Given the description of an element on the screen output the (x, y) to click on. 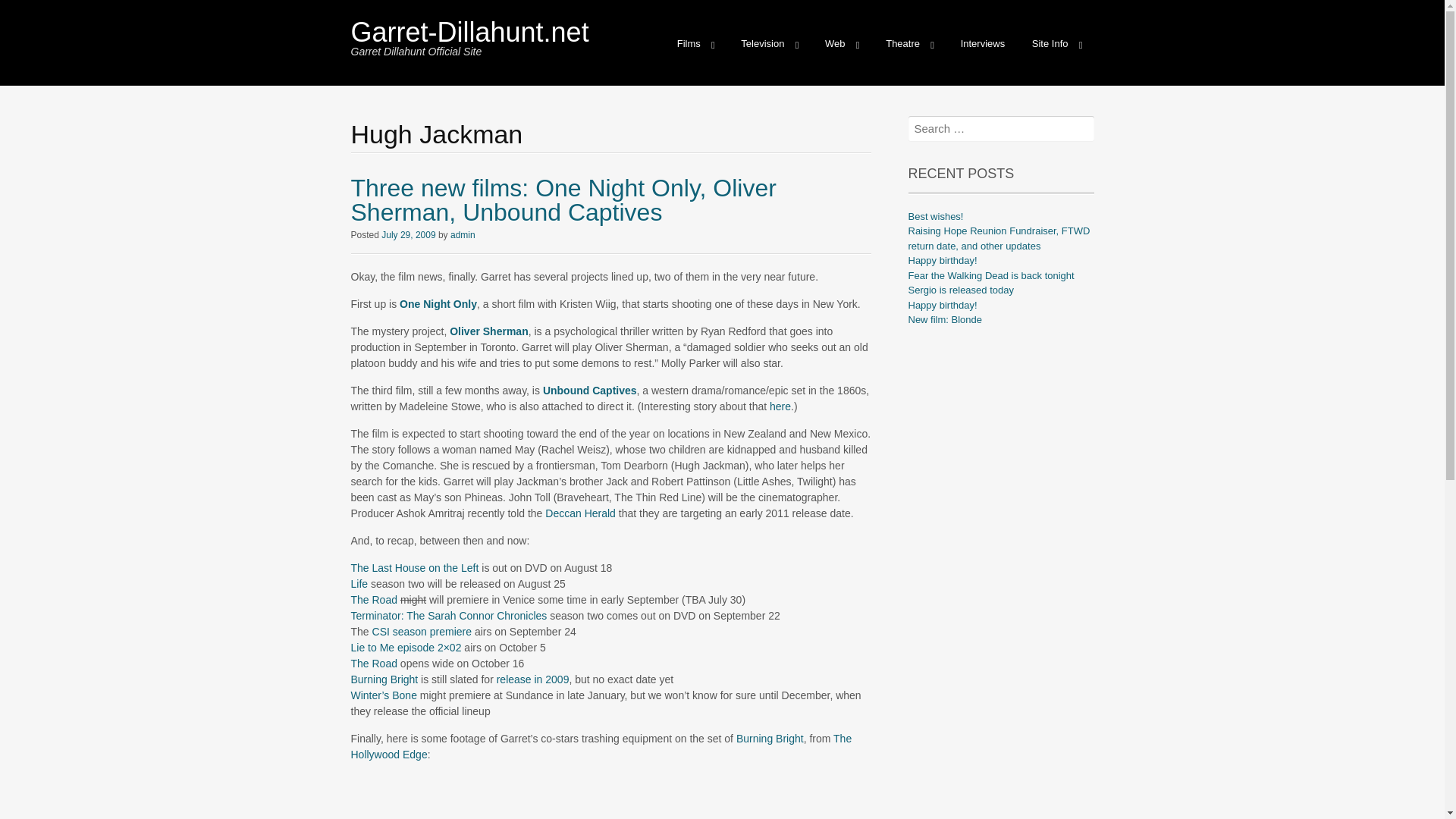
View all posts by admin (462, 234)
Skip to content (676, 36)
Garret-Dillahunt.net (469, 31)
Films (695, 43)
